Given the description of an element on the screen output the (x, y) to click on. 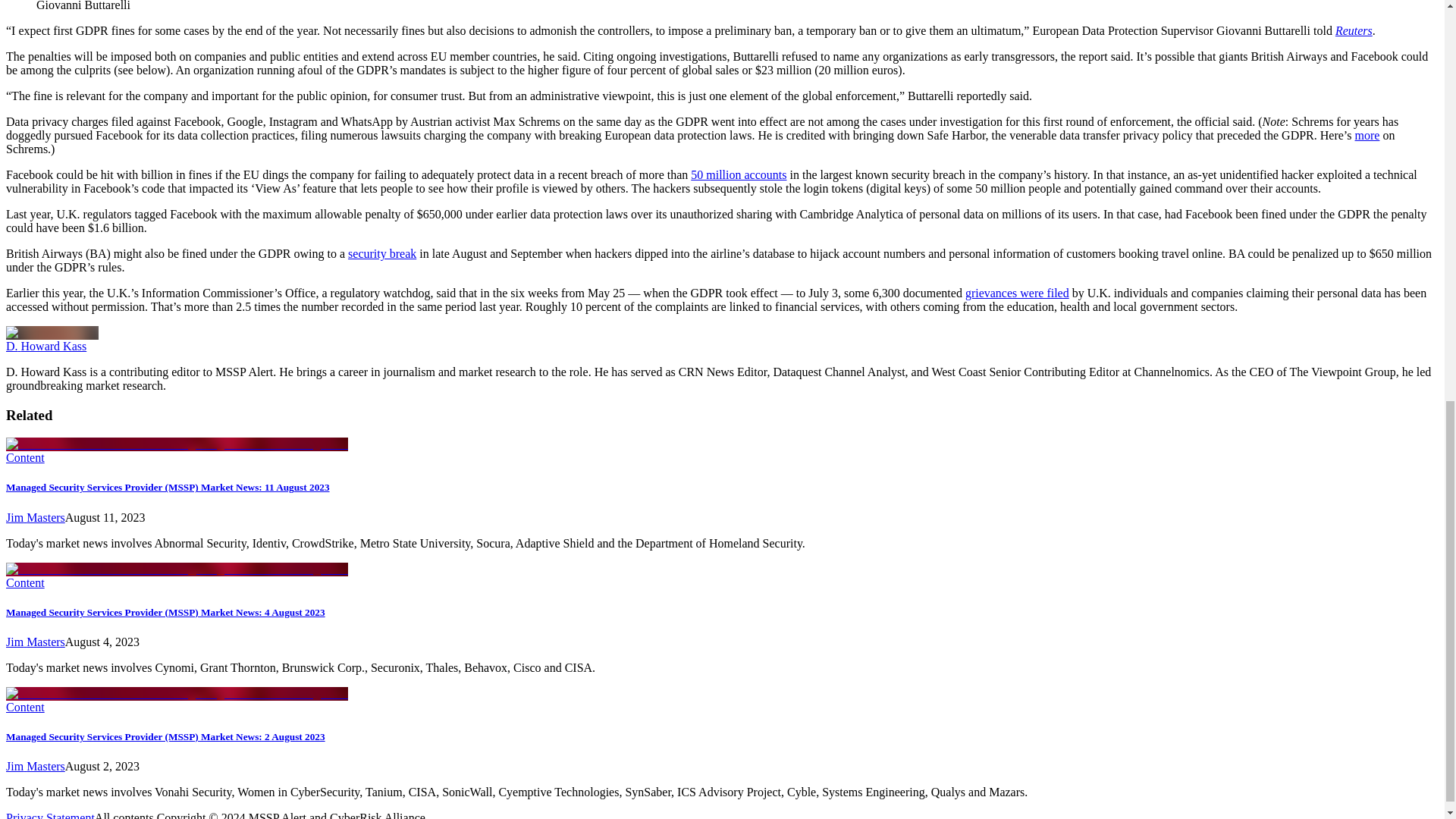
Content (25, 582)
Jim Masters (35, 641)
more (1367, 134)
Reuters (1354, 30)
D. Howard Kass (45, 345)
Jim Masters (35, 517)
grievances were filed (1016, 292)
Jim Masters (35, 766)
Content (25, 457)
security break (381, 253)
